Given the description of an element on the screen output the (x, y) to click on. 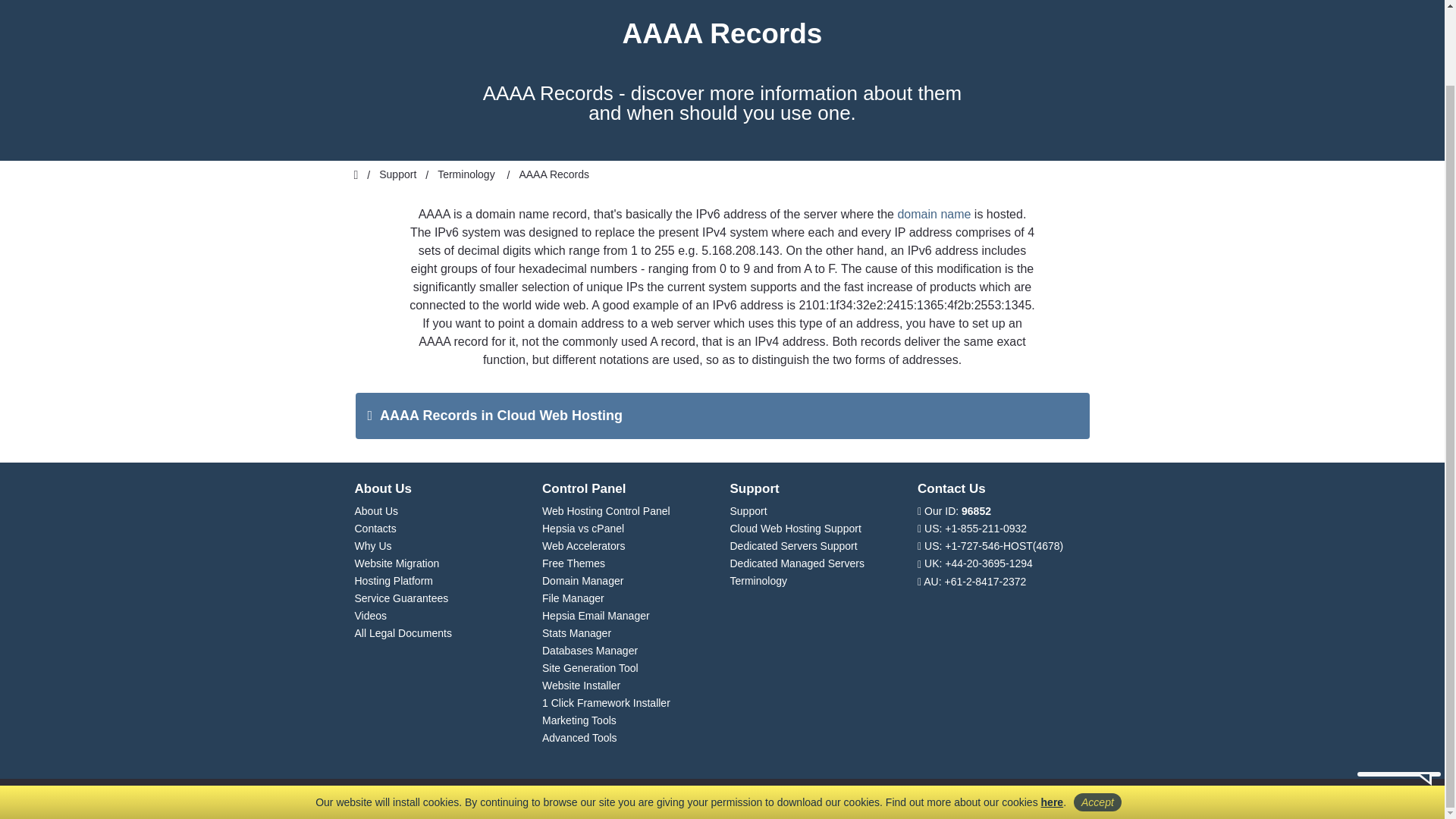
Privacy Policy (1052, 717)
domain name (933, 214)
